Given the description of an element on the screen output the (x, y) to click on. 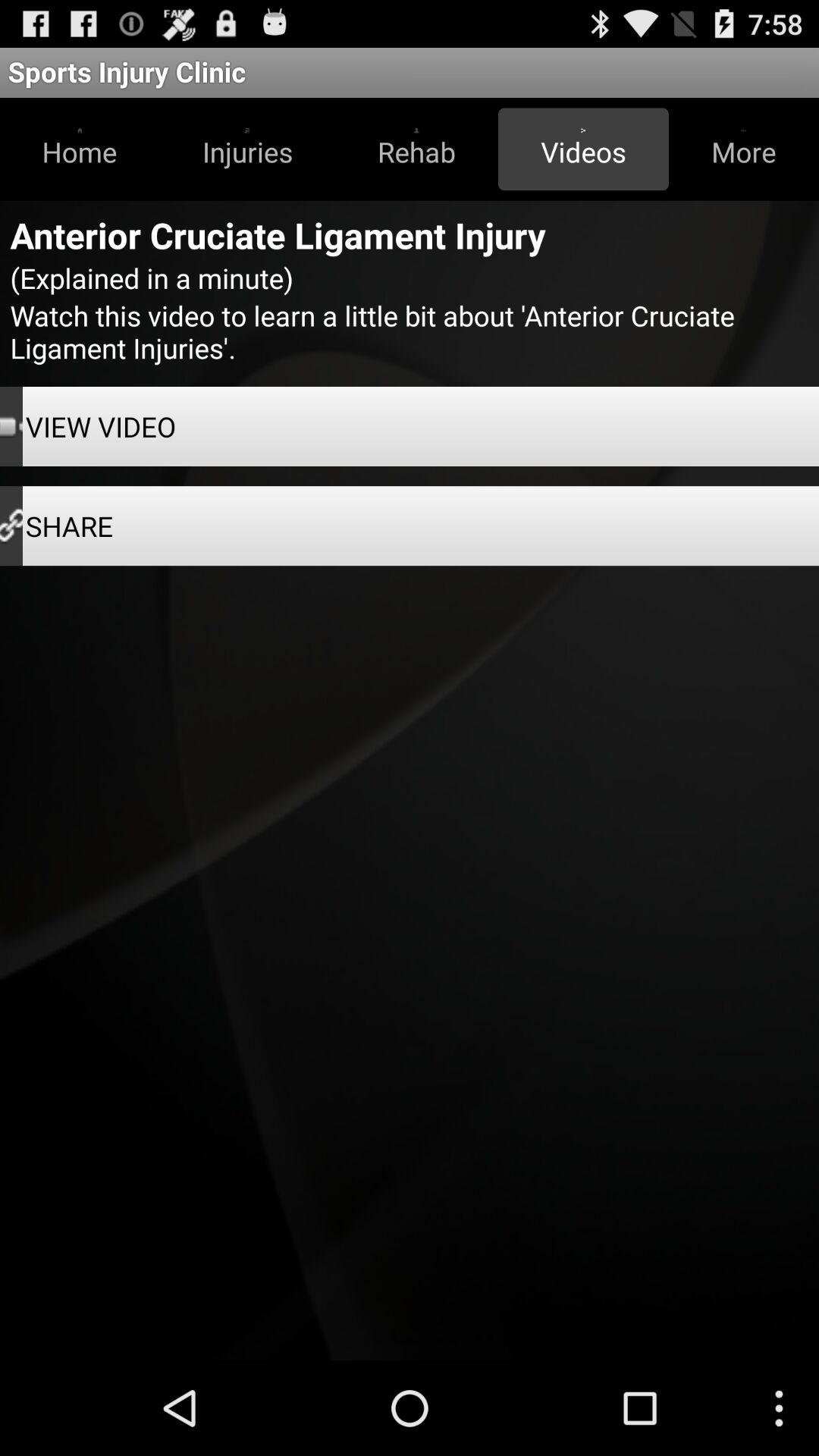
choose rehab icon (416, 149)
